Given the description of an element on the screen output the (x, y) to click on. 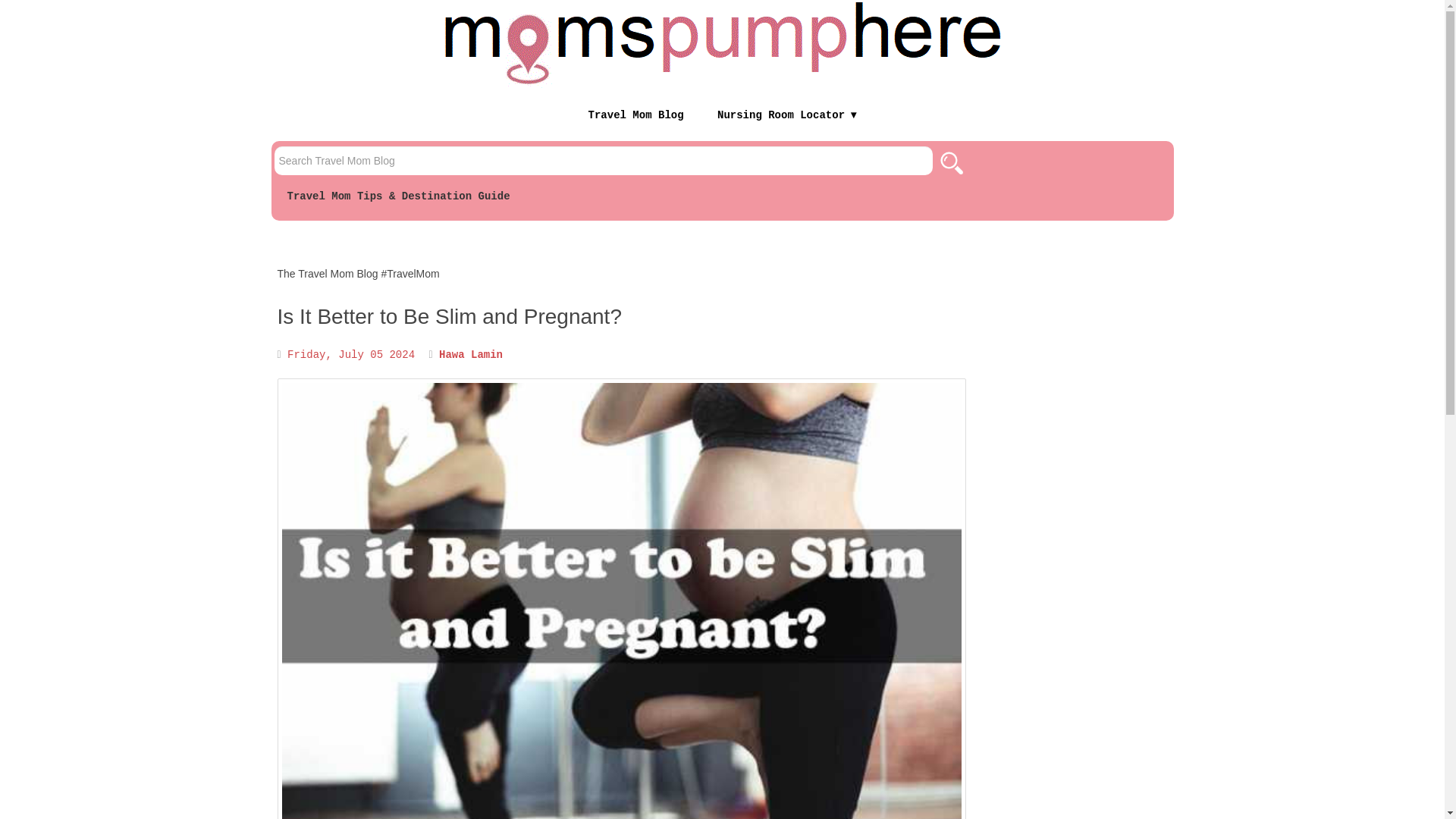
Hawa Lamin (470, 354)
Travel Mom Blog (636, 114)
